Given the description of an element on the screen output the (x, y) to click on. 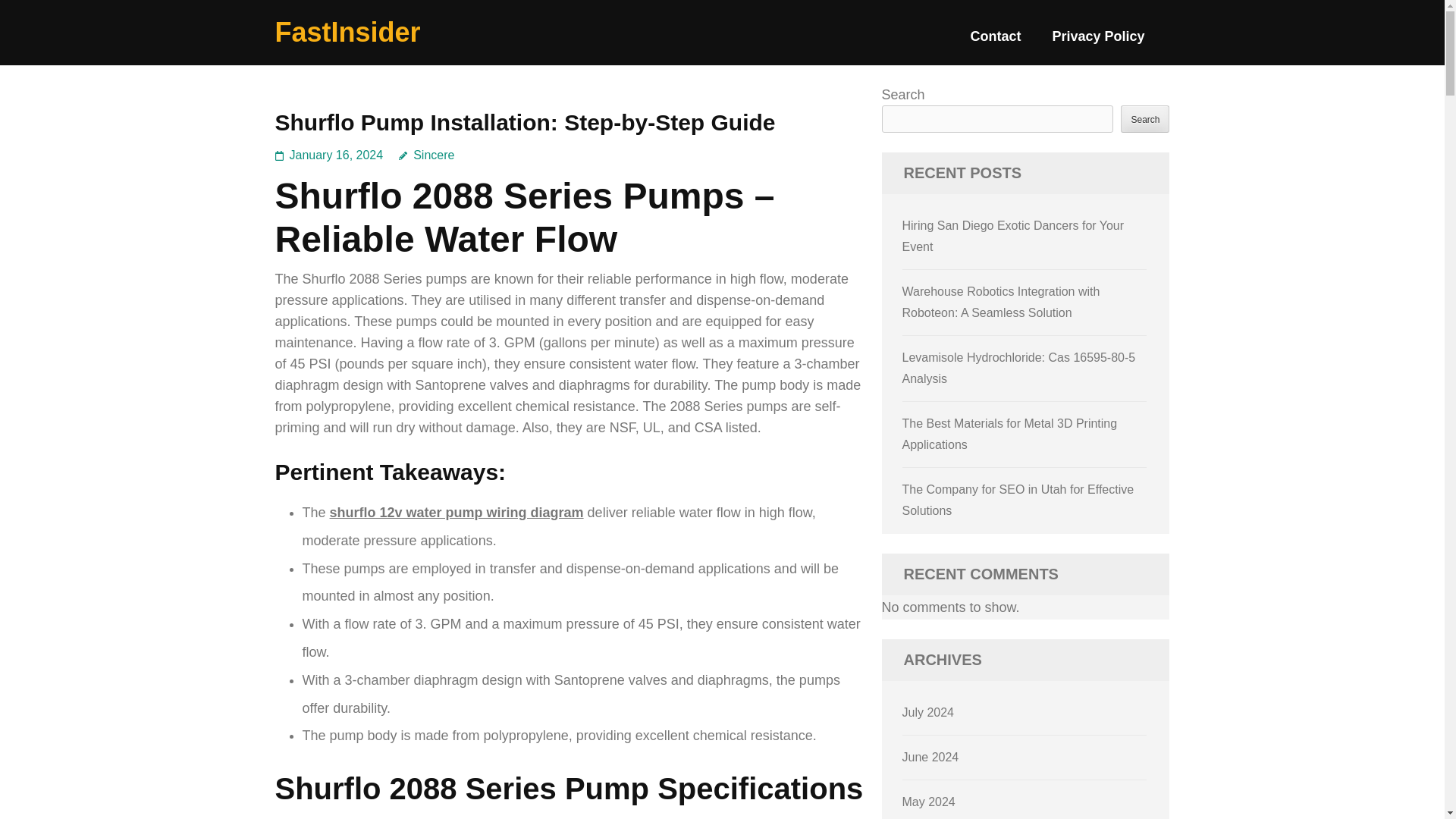
Privacy Policy (1097, 42)
Contact (994, 42)
The Company for SEO in Utah for Effective Solutions (1018, 499)
Sincere (426, 154)
January 16, 2024 (336, 154)
Levamisole Hydrochloride: Cas 16595-80-5 Analysis (1018, 367)
Search (1145, 118)
shurflo 12v water pump wiring diagram (456, 512)
May 2024 (928, 801)
Hiring San Diego Exotic Dancers for Your Event (1013, 236)
July 2024 (928, 712)
FastInsider (347, 31)
The Best Materials for Metal 3D Printing Applications (1010, 433)
June 2024 (930, 757)
